Given the description of an element on the screen output the (x, y) to click on. 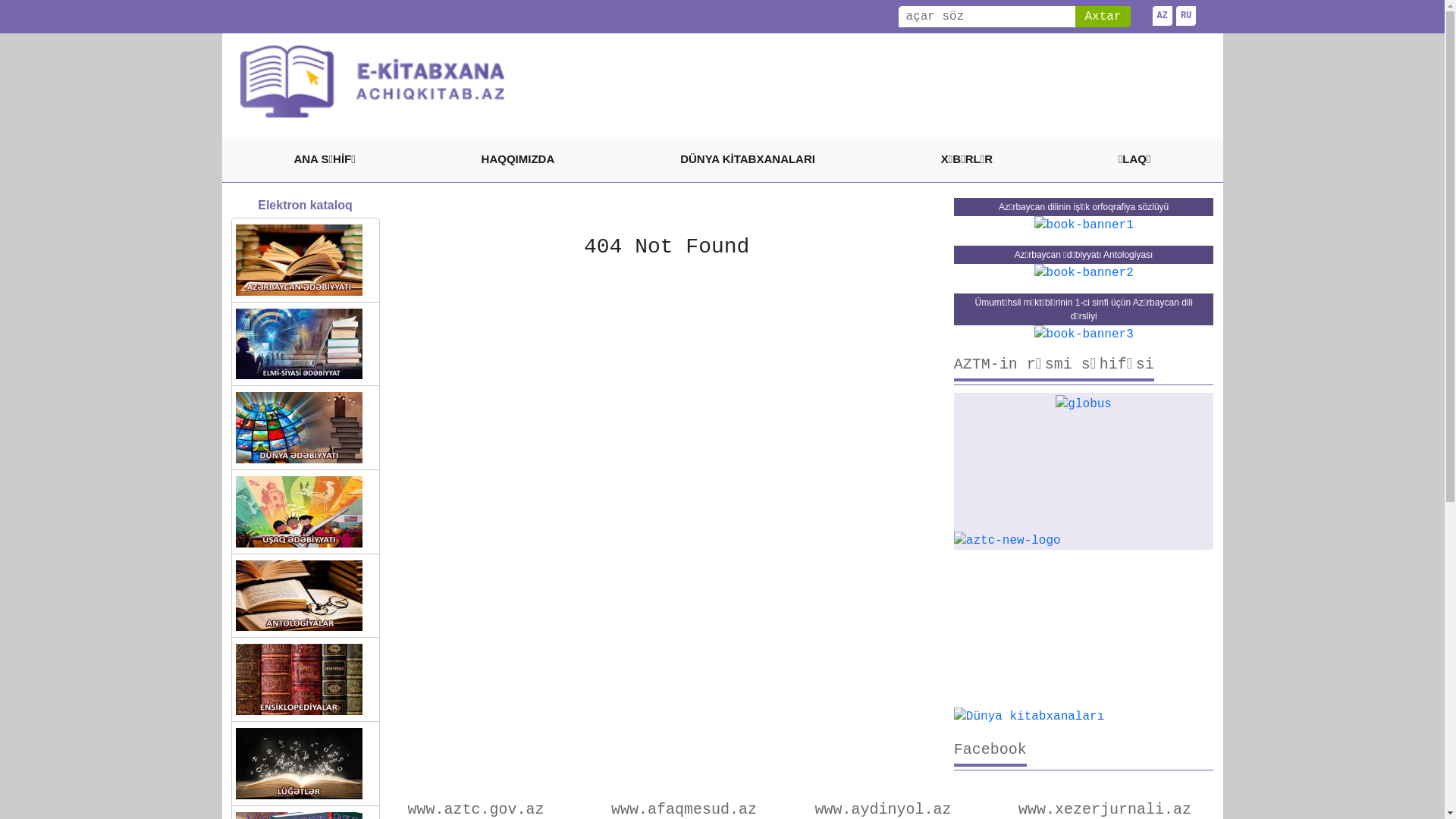
RU Element type: text (1185, 15)
HAQQIMIZDA Element type: text (518, 160)
Axtar Element type: text (1102, 16)
Facebook Element type: text (989, 753)
AZ Element type: text (1162, 15)
